Given the description of an element on the screen output the (x, y) to click on. 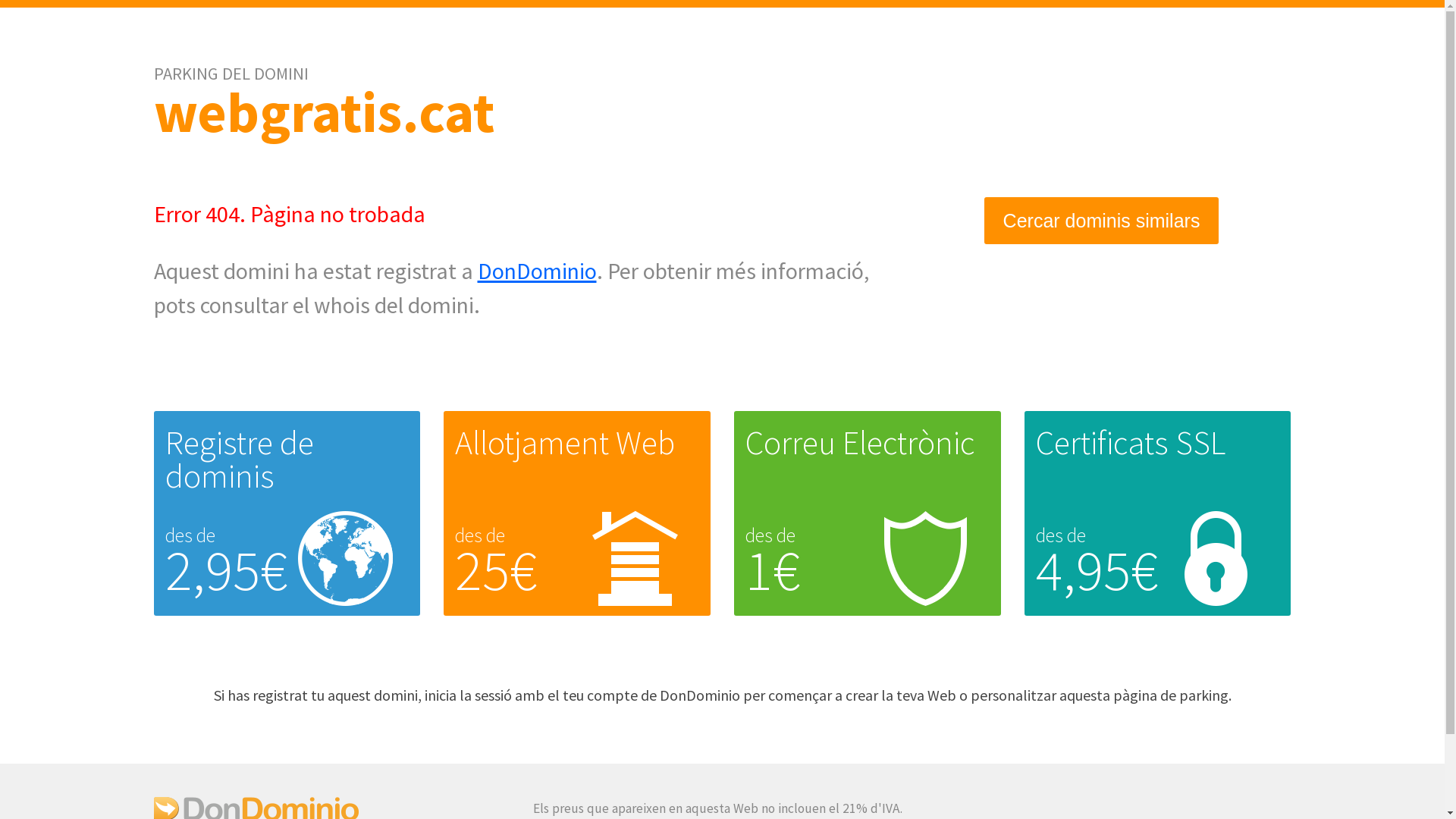
Cercar dominis similars Element type: text (1101, 220)
Allotjament Web Element type: text (564, 442)
DonDominio Element type: text (536, 270)
Certificats SSL Element type: text (1130, 442)
Registre de dominis Element type: text (239, 458)
